Given the description of an element on the screen output the (x, y) to click on. 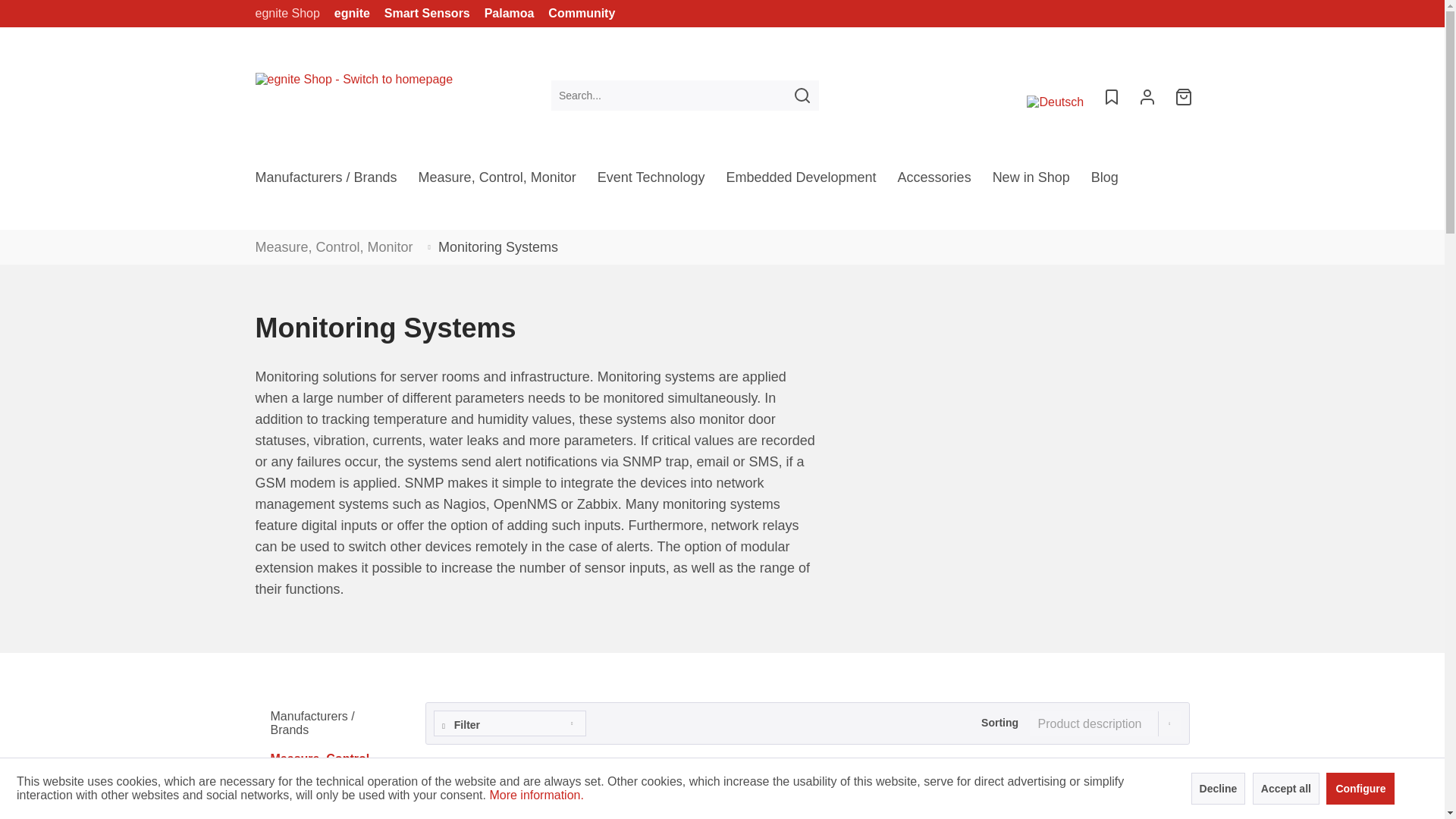
Smart Sensors (423, 13)
Wish list (1109, 95)
Blog (1104, 182)
New in Shop (1030, 182)
Event Technology (651, 182)
My account (1146, 95)
egnite Shop (286, 13)
egnite Shop - Switch to homepage (353, 94)
Event Technology (651, 182)
Blog (1104, 182)
